Given the description of an element on the screen output the (x, y) to click on. 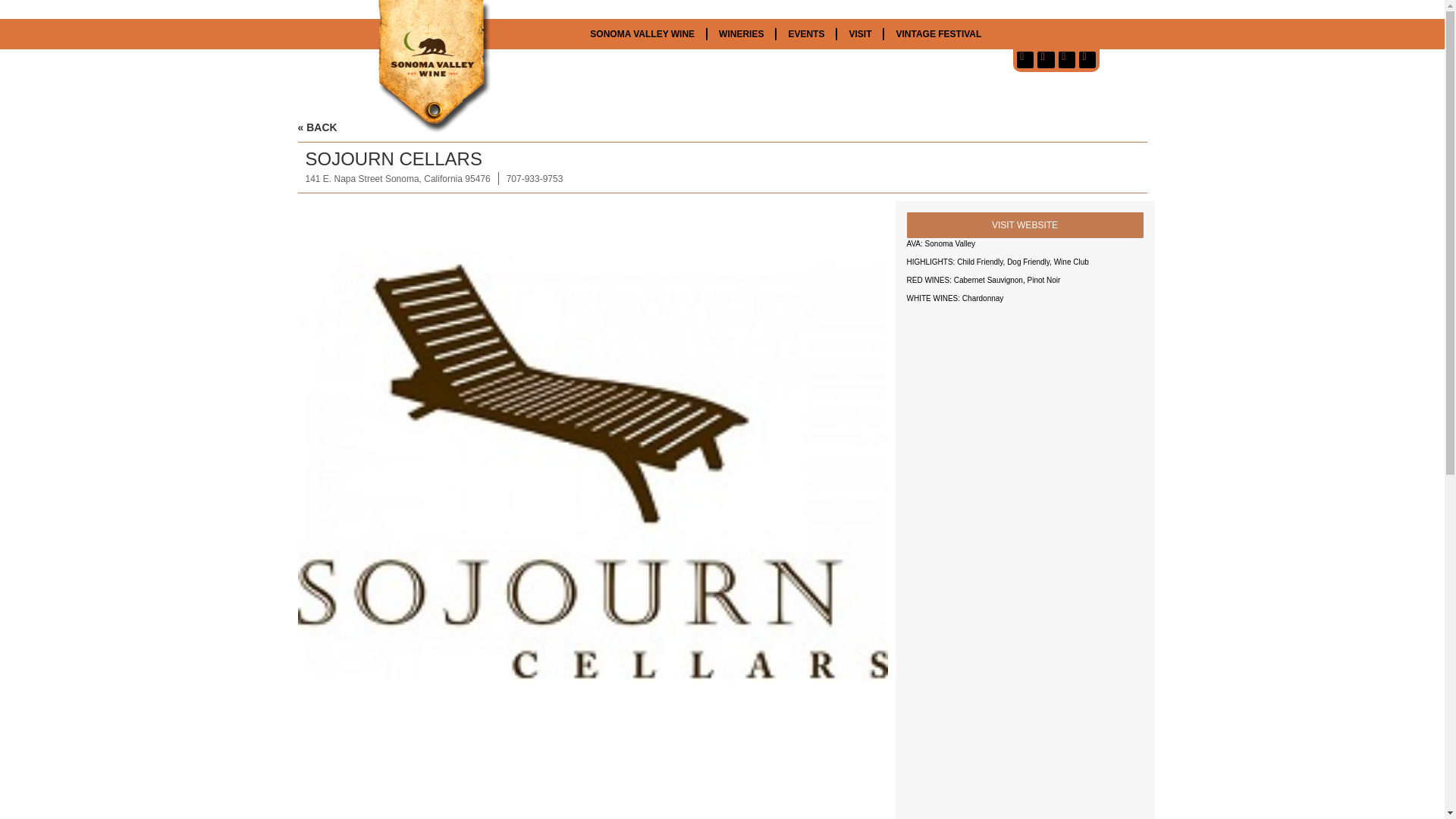
707-933-9753 (534, 178)
SONOMA VALLEY WINE (642, 33)
VISIT WEBSITE (1024, 225)
VINTAGE FESTIVAL (937, 33)
141 E. Napa Street Sonoma, California 95476 (396, 178)
WINERIES (740, 33)
VISIT (859, 33)
EVENTS (805, 33)
